Given the description of an element on the screen output the (x, y) to click on. 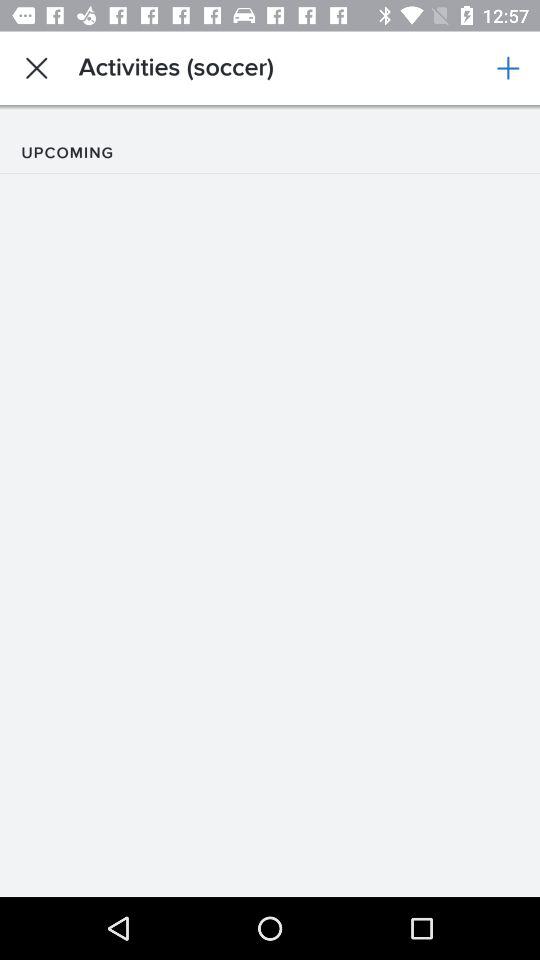
launch the icon next to the activities (soccer) app (36, 68)
